Given the description of an element on the screen output the (x, y) to click on. 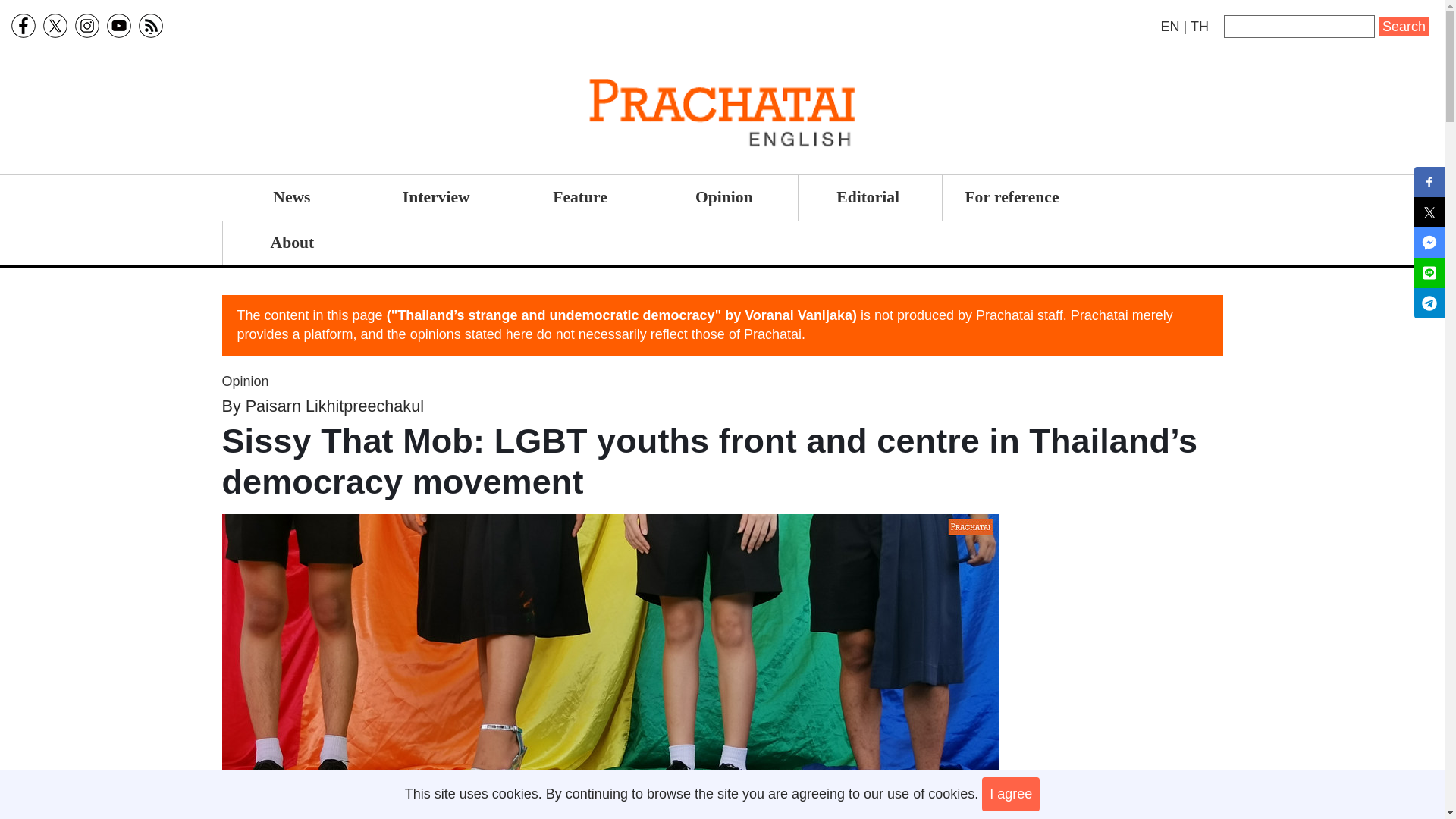
TH (1199, 25)
Opinion (723, 197)
Prachatai English (1169, 25)
Search (1403, 26)
News (291, 197)
Opinion (244, 381)
About (292, 243)
Search (1403, 26)
For reference (1011, 197)
YouTube Prachatai English (118, 25)
Facebook Prachatai English (22, 25)
Prachatai English Feed Update (150, 25)
YouTube Prachatai English (118, 25)
Facebook Prachatai English (22, 25)
